Given the description of an element on the screen output the (x, y) to click on. 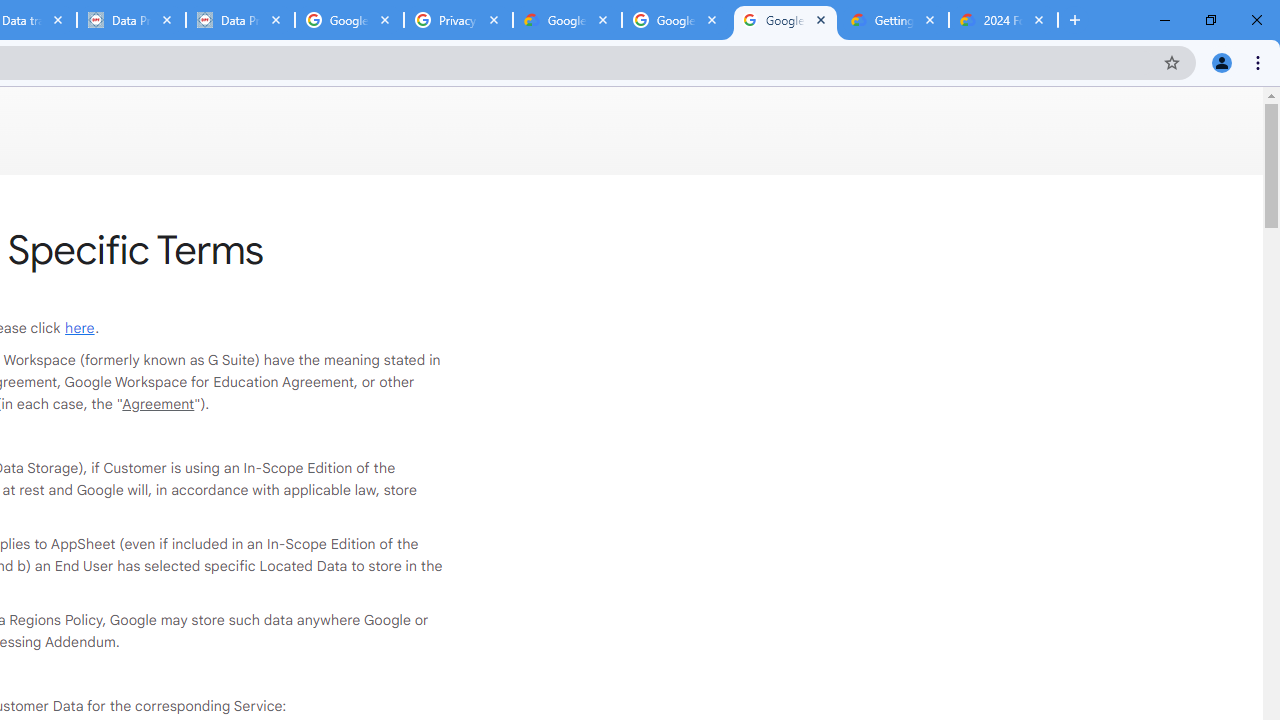
Google Cloud Terms Directory | Google Cloud (567, 20)
